Given the description of an element on the screen output the (x, y) to click on. 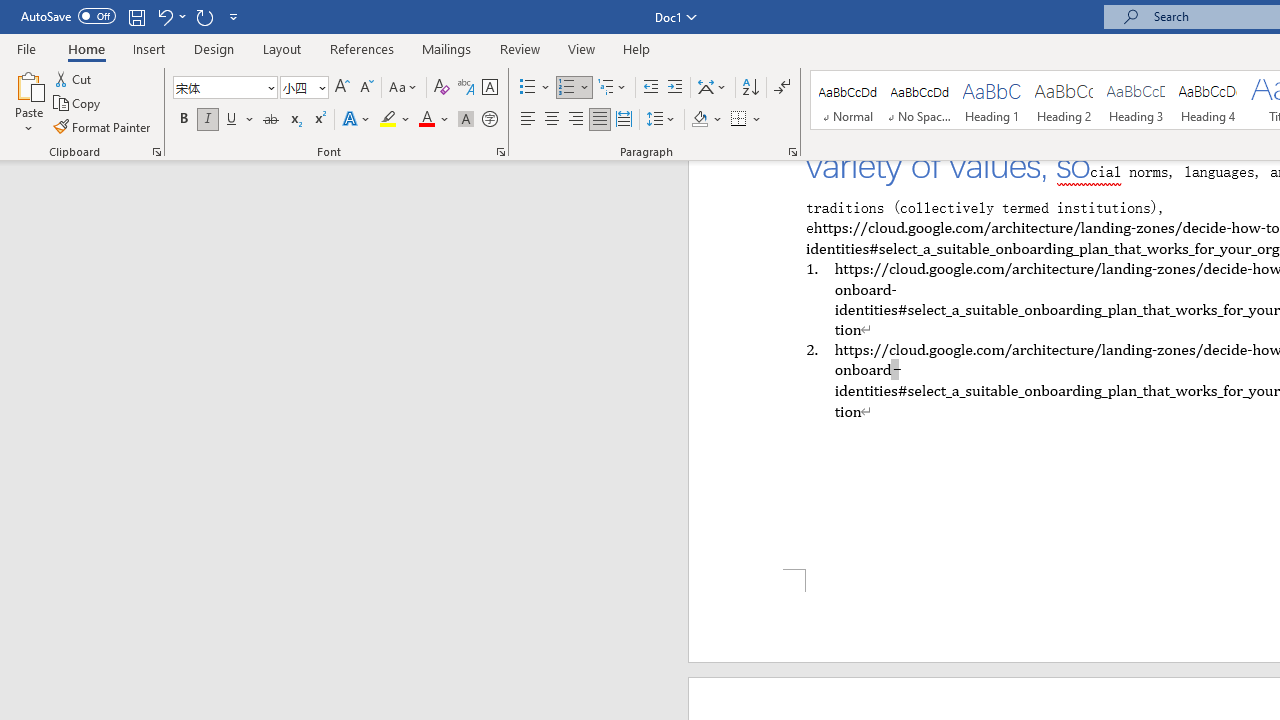
Heading 4 (1208, 100)
